Given the description of an element on the screen output the (x, y) to click on. 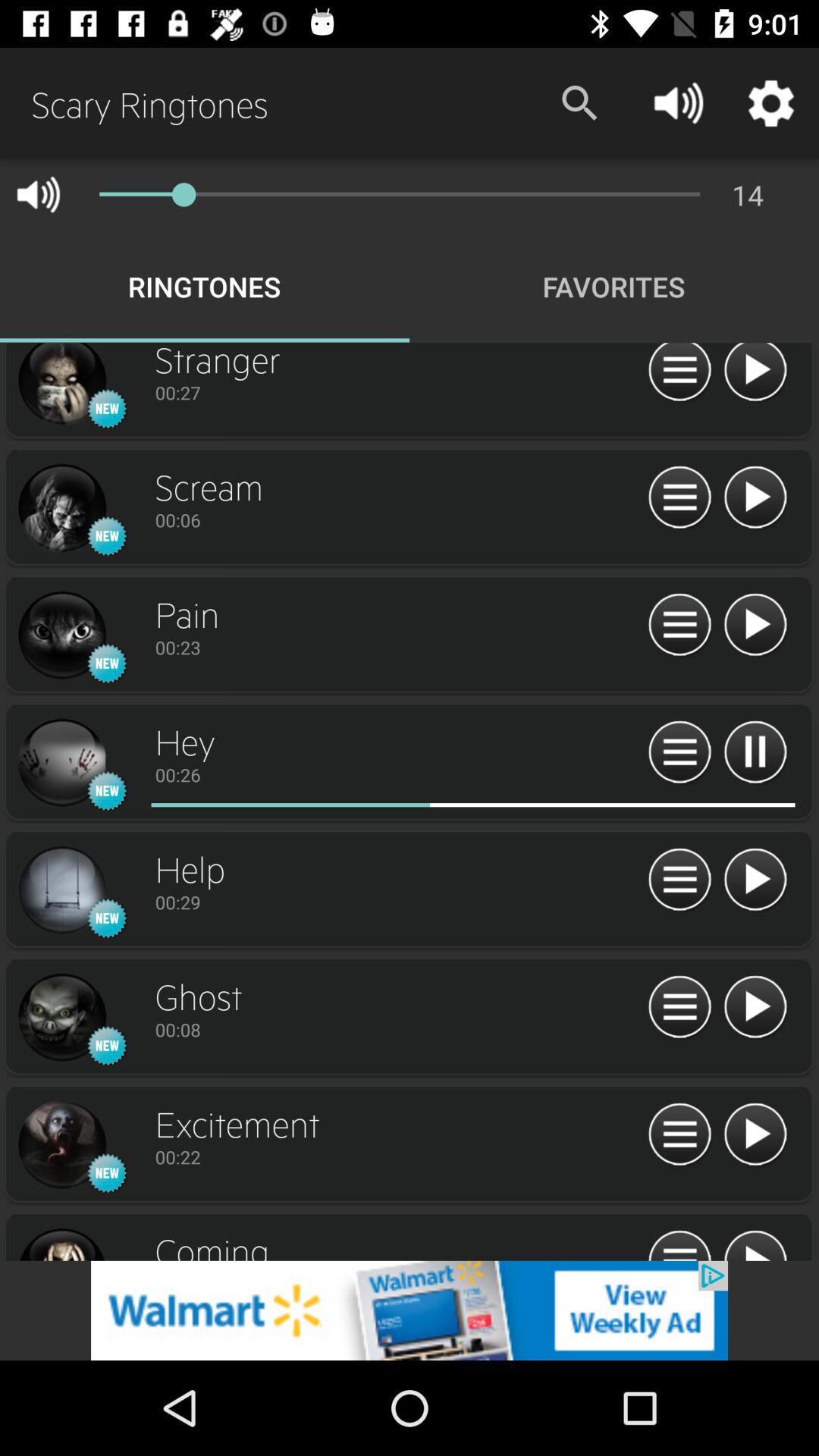
open album (61, 385)
